Given the description of an element on the screen output the (x, y) to click on. 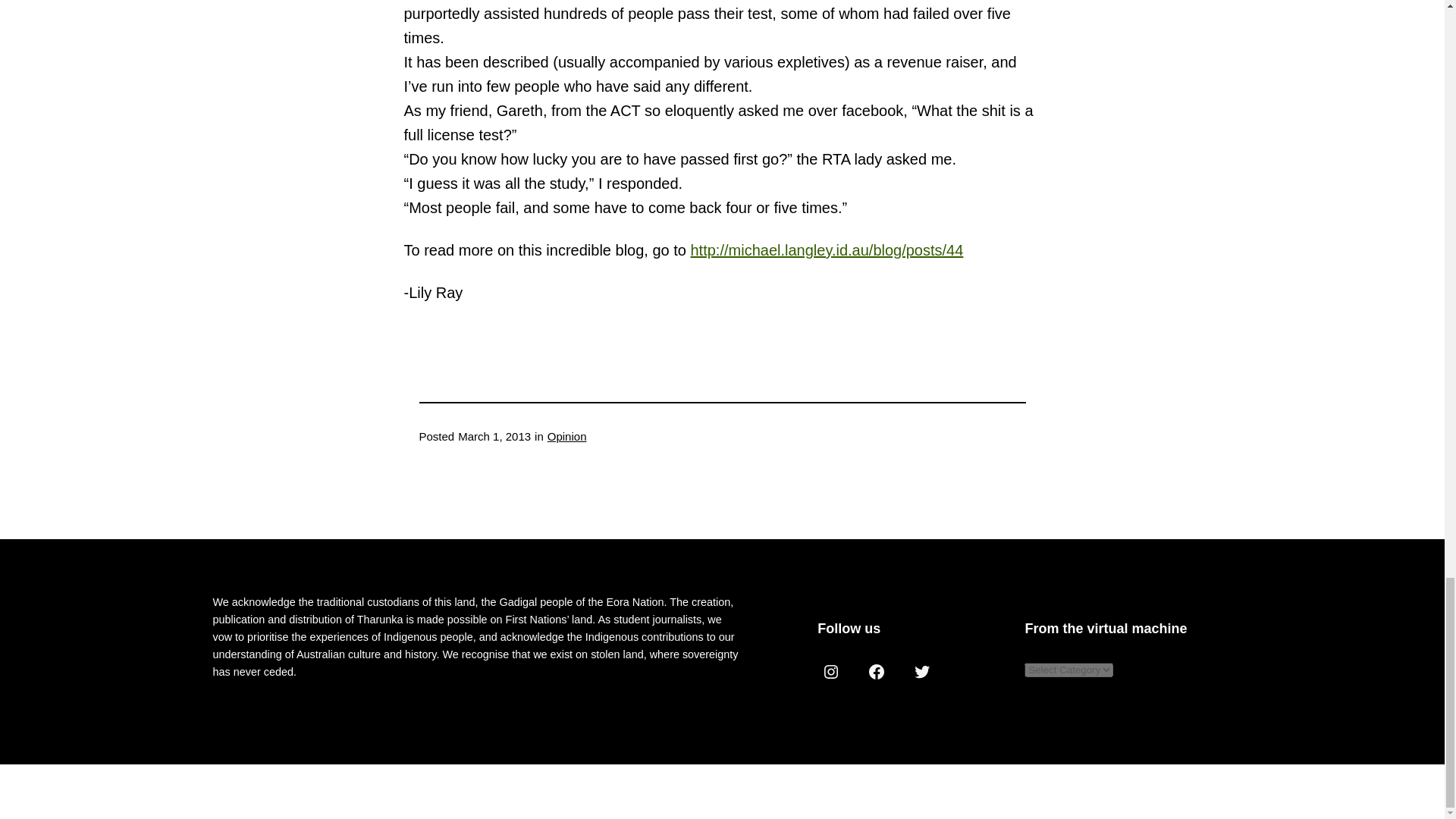
Instagram (830, 671)
Facebook (876, 671)
Opinion (566, 436)
Twitter (922, 671)
